Given the description of an element on the screen output the (x, y) to click on. 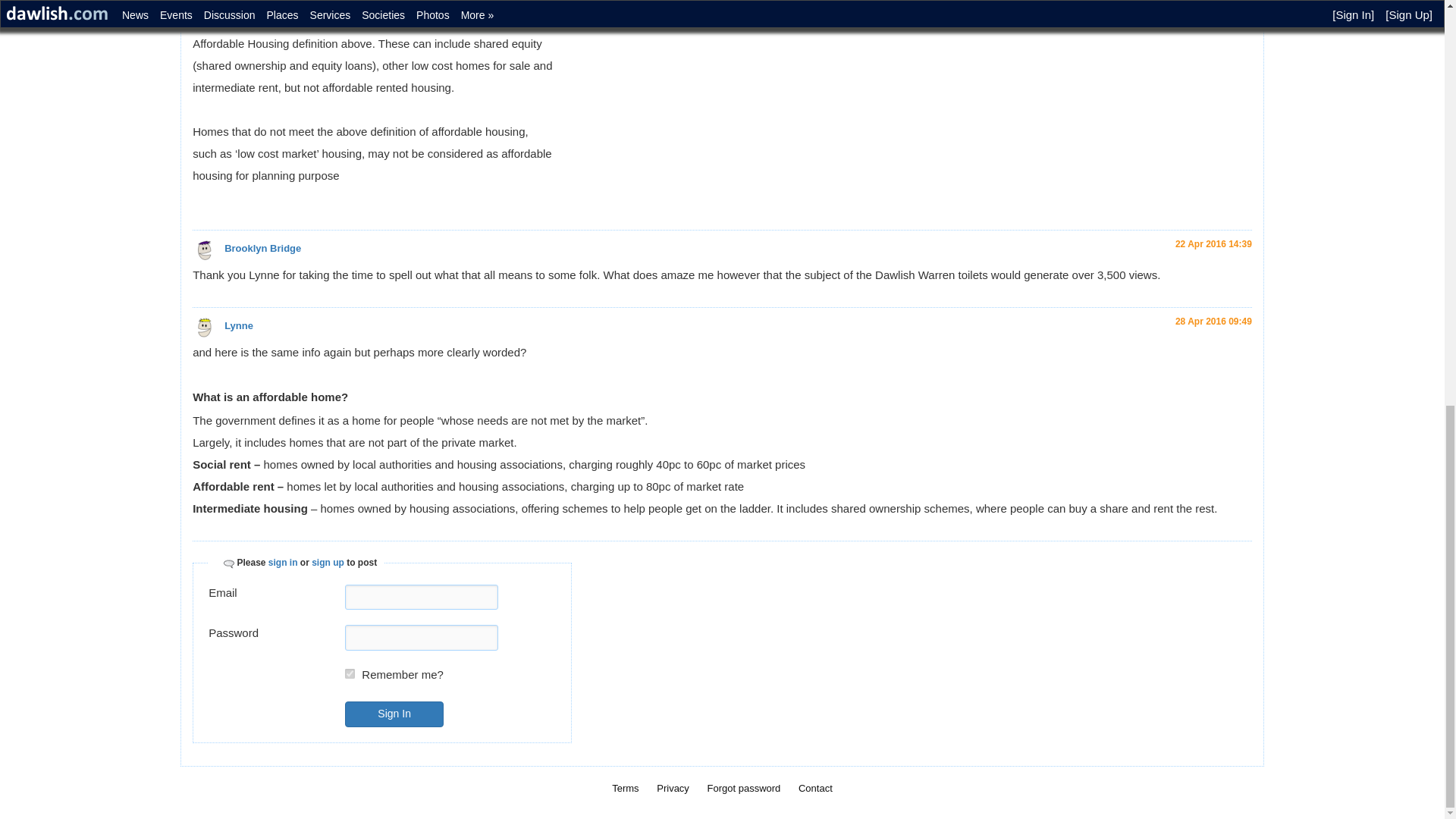
Lynne (238, 325)
Brooklyn Bridge (262, 247)
Lynne (204, 327)
contact website owners (814, 787)
Comment (224, 562)
Brooklyn Bridge (204, 250)
true (350, 673)
